Given the description of an element on the screen output the (x, y) to click on. 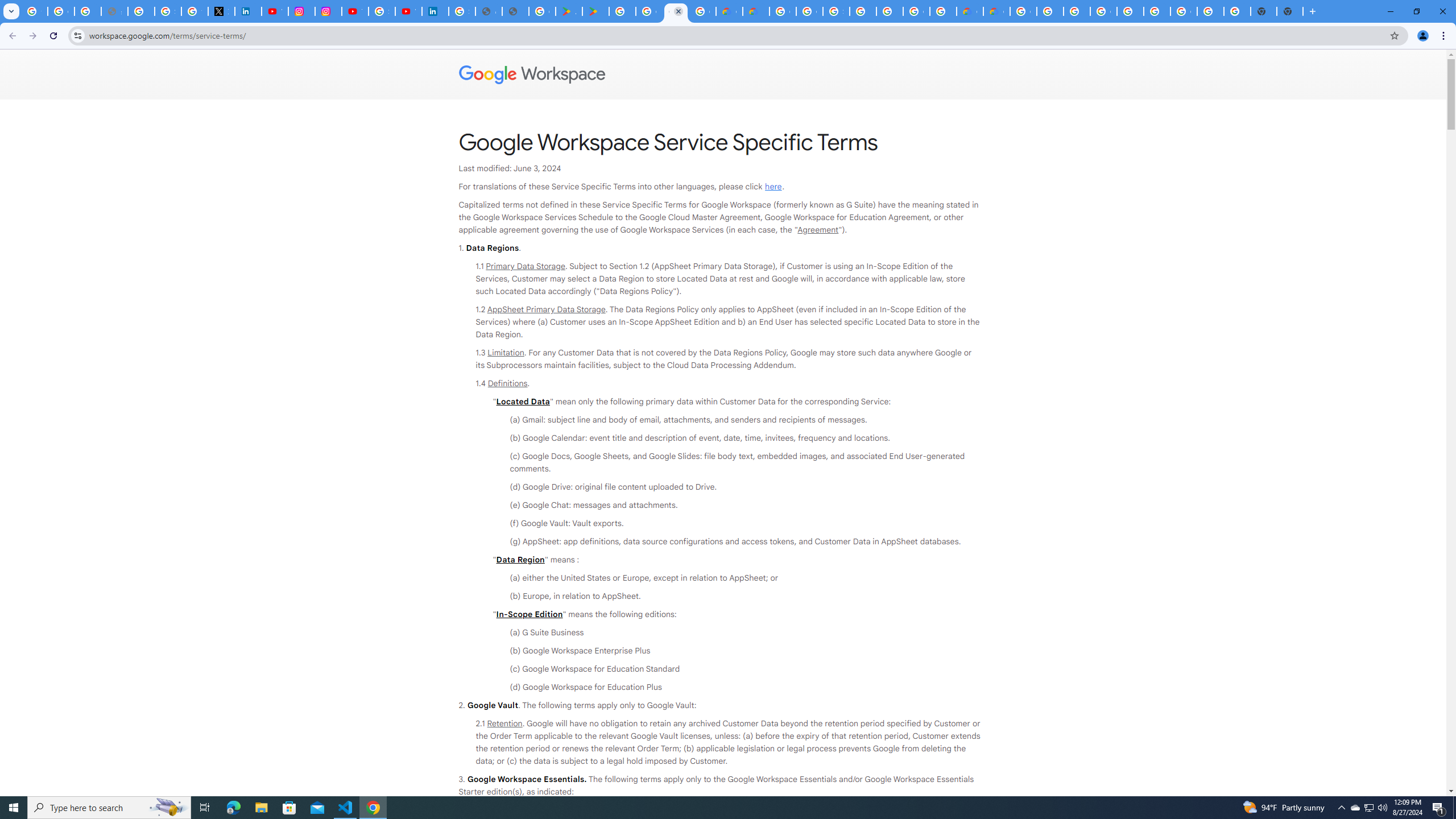
Sign in - Google Accounts (382, 11)
Google Cloud Platform (1023, 11)
Browse Chrome as a guest - Computer - Google Chrome Help (1050, 11)
